Given the description of an element on the screen output the (x, y) to click on. 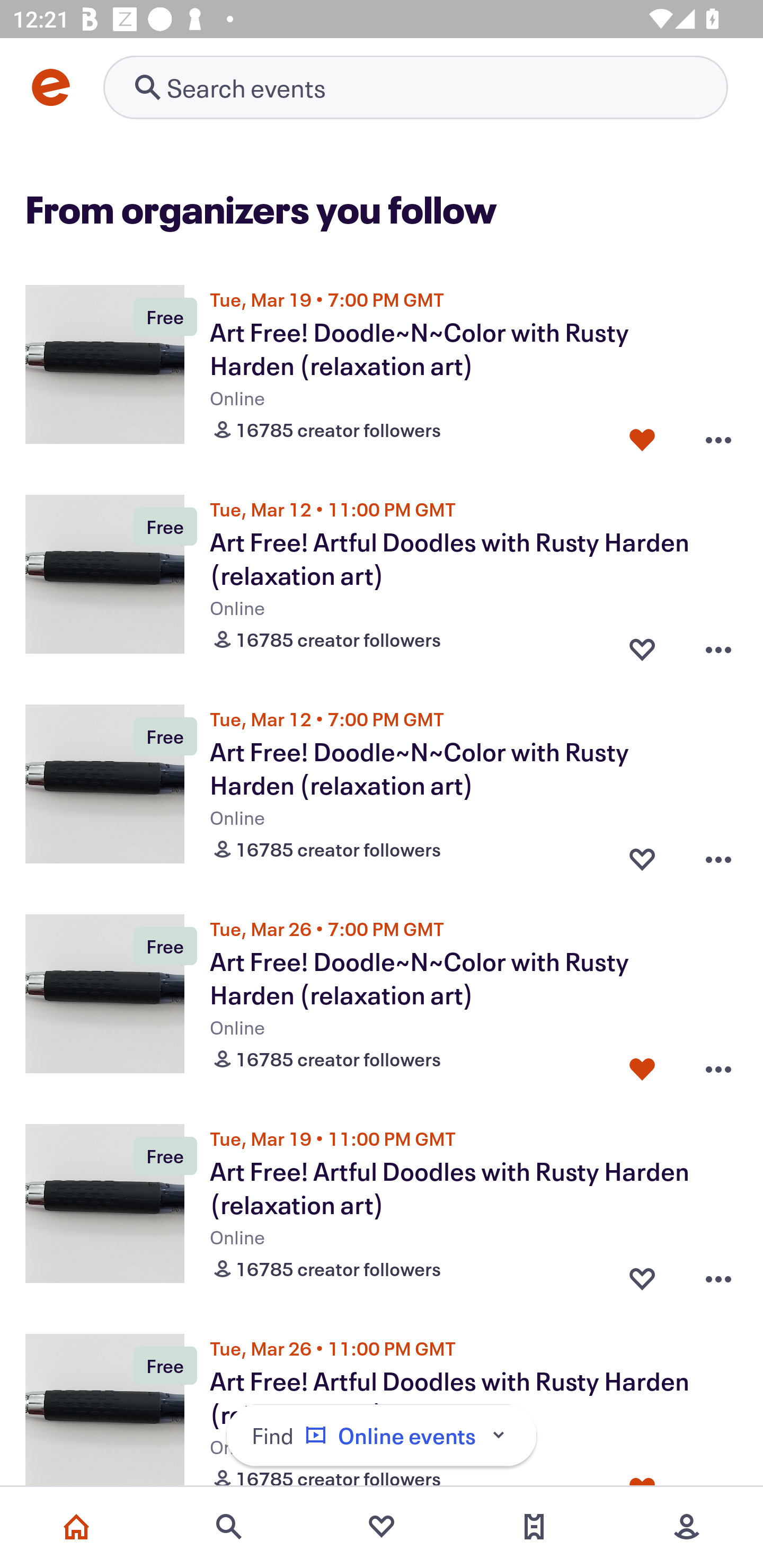
Retry's image Search events (415, 86)
Favorite button (642, 434)
Overflow menu button (718, 434)
Favorite button (642, 644)
Overflow menu button (718, 644)
Favorite button (642, 855)
Overflow menu button (718, 855)
Favorite button (642, 1065)
Overflow menu button (718, 1065)
Favorite button (642, 1274)
Overflow menu button (718, 1274)
Find Online events (381, 1435)
Home (76, 1526)
Search events (228, 1526)
Favorites (381, 1526)
Tickets (533, 1526)
More (686, 1526)
